Given the description of an element on the screen output the (x, y) to click on. 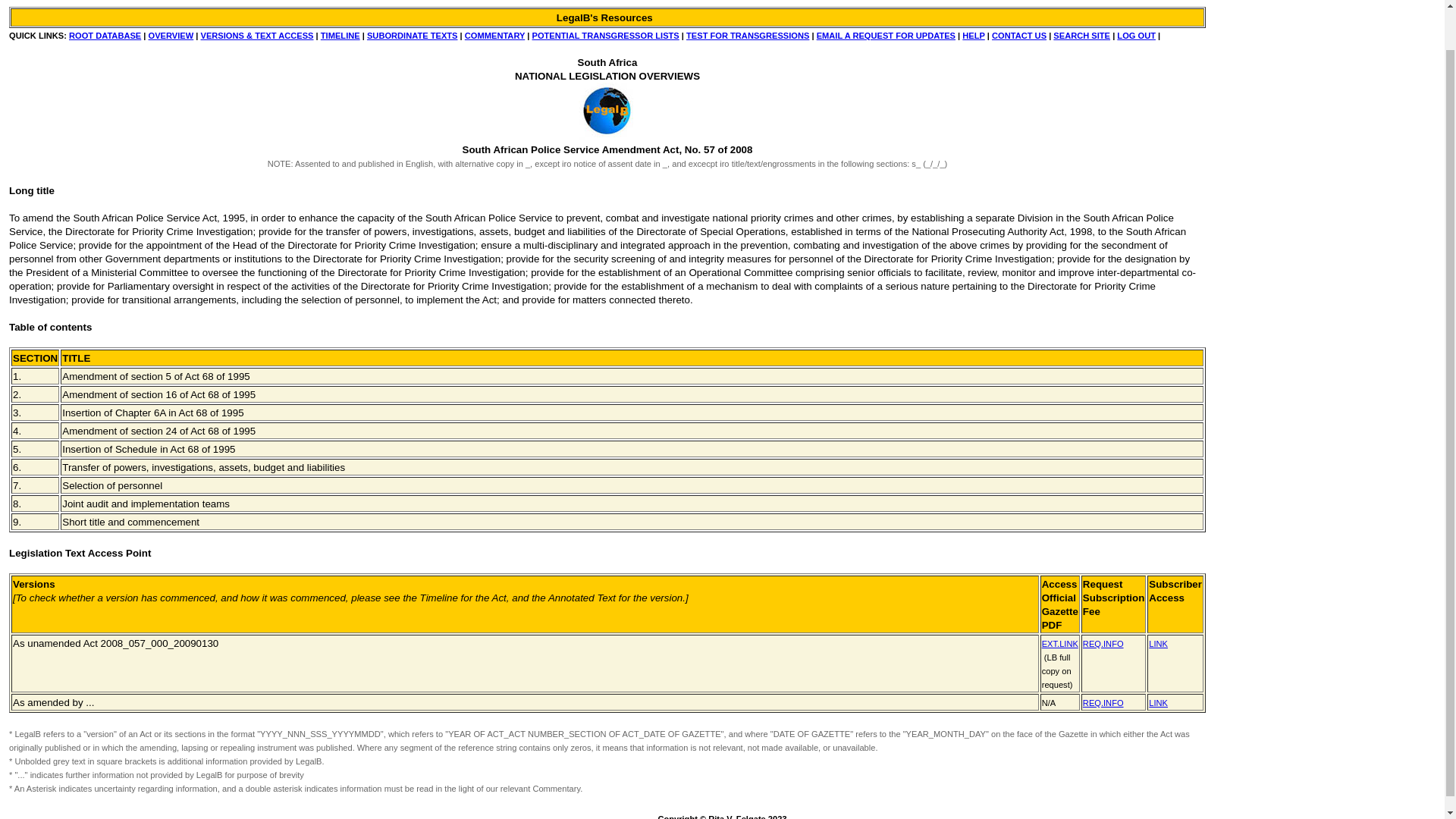
LOG OUT (1136, 35)
HELP (973, 35)
TEST FOR TRANSGRESSIONS (747, 35)
ROOT DATABASE (104, 35)
COMMENTARY (494, 35)
CONTACT US (1018, 35)
TIMELINE (339, 35)
SUBORDINATE TEXTS (412, 35)
LINK (1157, 642)
OVERVIEW (170, 35)
REQ.INFO (1103, 642)
SEARCH SITE (1080, 35)
EXT.LINK (1060, 643)
REQ.INFO (1103, 701)
LINK (1157, 701)
